Given the description of an element on the screen output the (x, y) to click on. 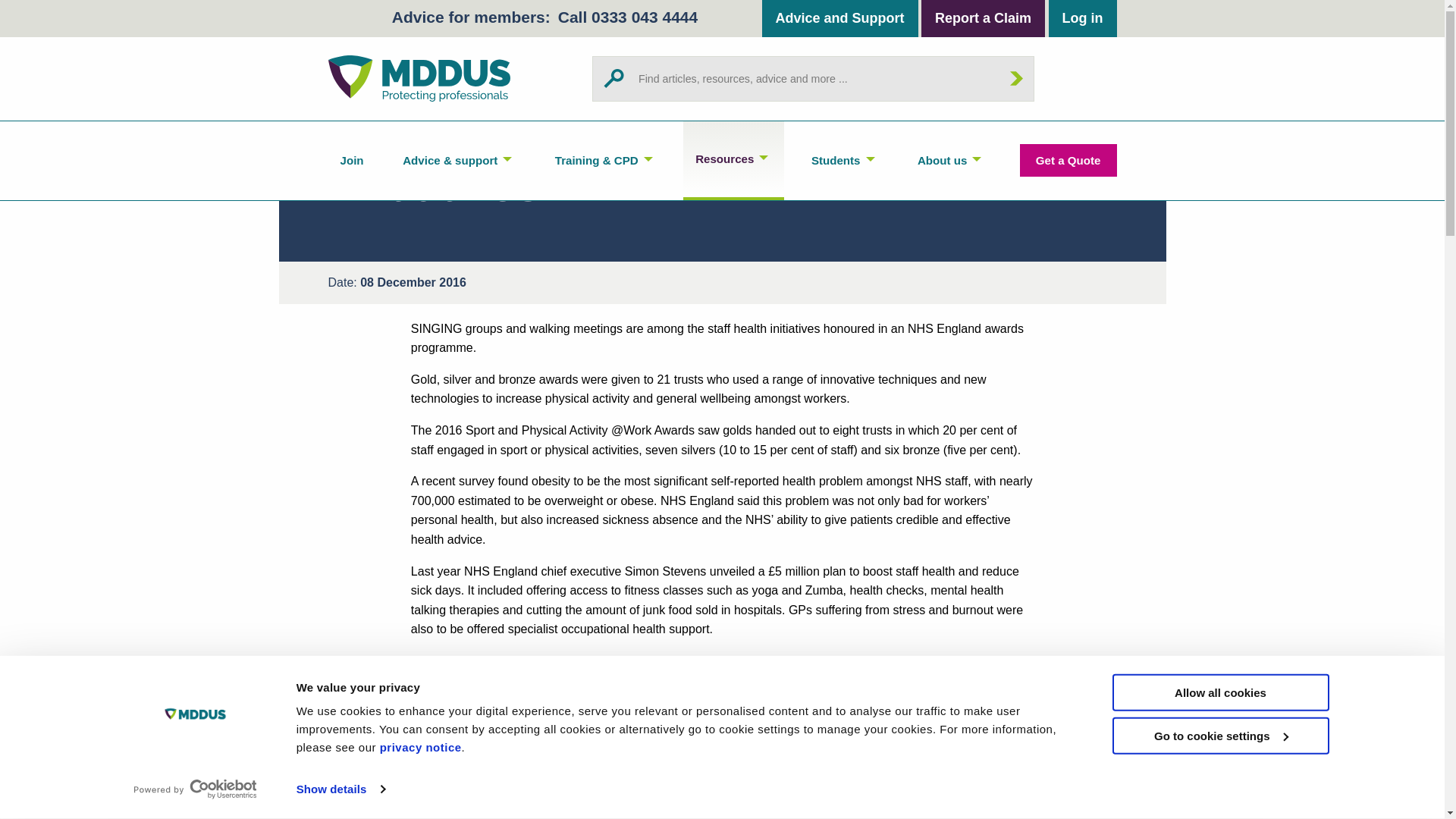
Show details (340, 789)
privacy notice (420, 747)
Search (1016, 78)
